Given the description of an element on the screen output the (x, y) to click on. 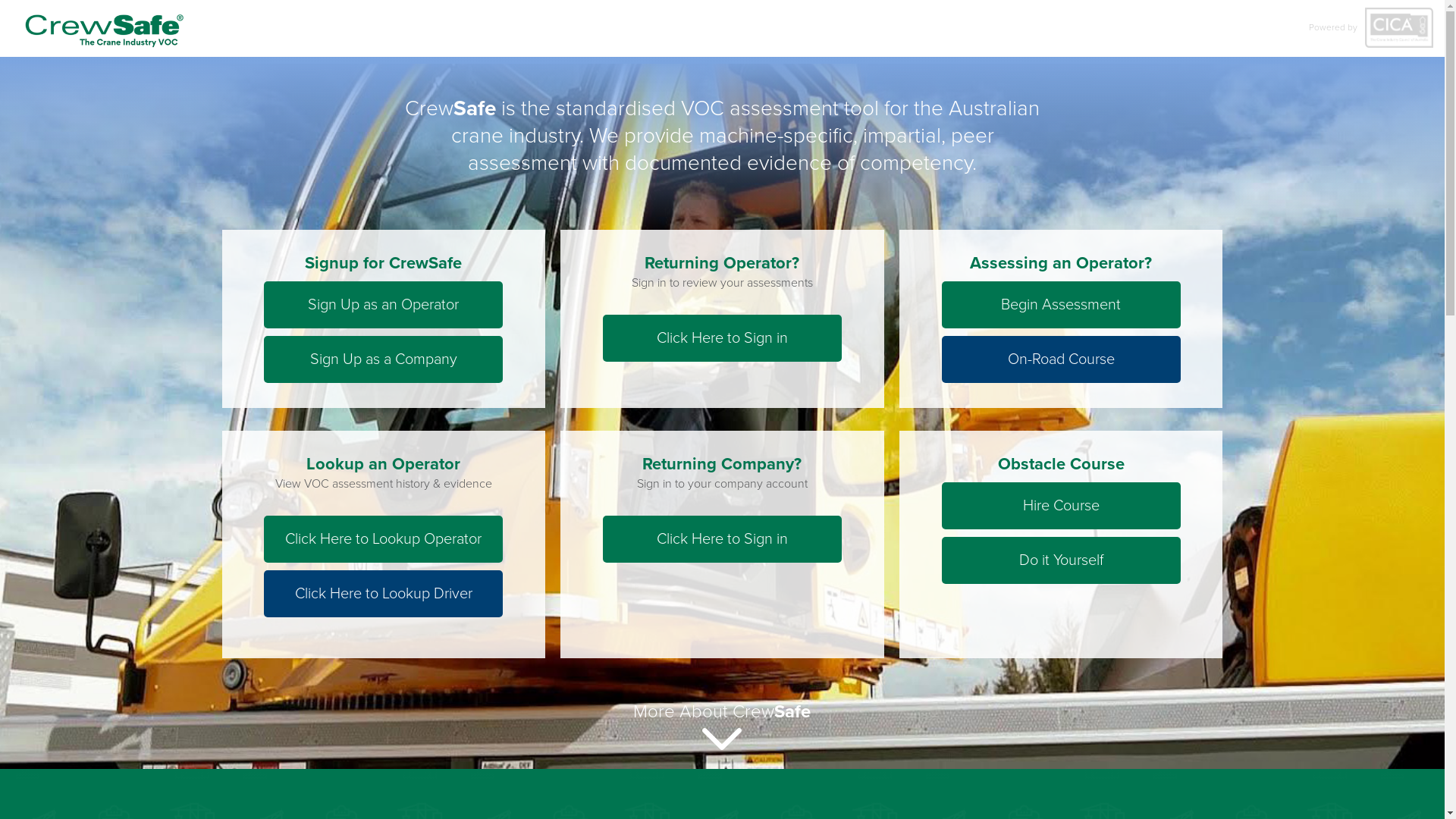
More About CrewSafe Element type: text (721, 724)
Click Here to Sign in Element type: text (721, 538)
Sign Up as an Operator Element type: text (382, 304)
Hire Course Element type: text (1060, 505)
Do it Yourself Element type: text (1060, 559)
Click Here to Lookup Driver Element type: text (382, 593)
Sign Up as a Company Element type: text (382, 358)
Click Here to Sign in Element type: text (721, 337)
On-Road Course Element type: text (1060, 358)
Begin Assessment Element type: text (1060, 304)
Click Here to Lookup Operator Element type: text (382, 538)
